Given the description of an element on the screen output the (x, y) to click on. 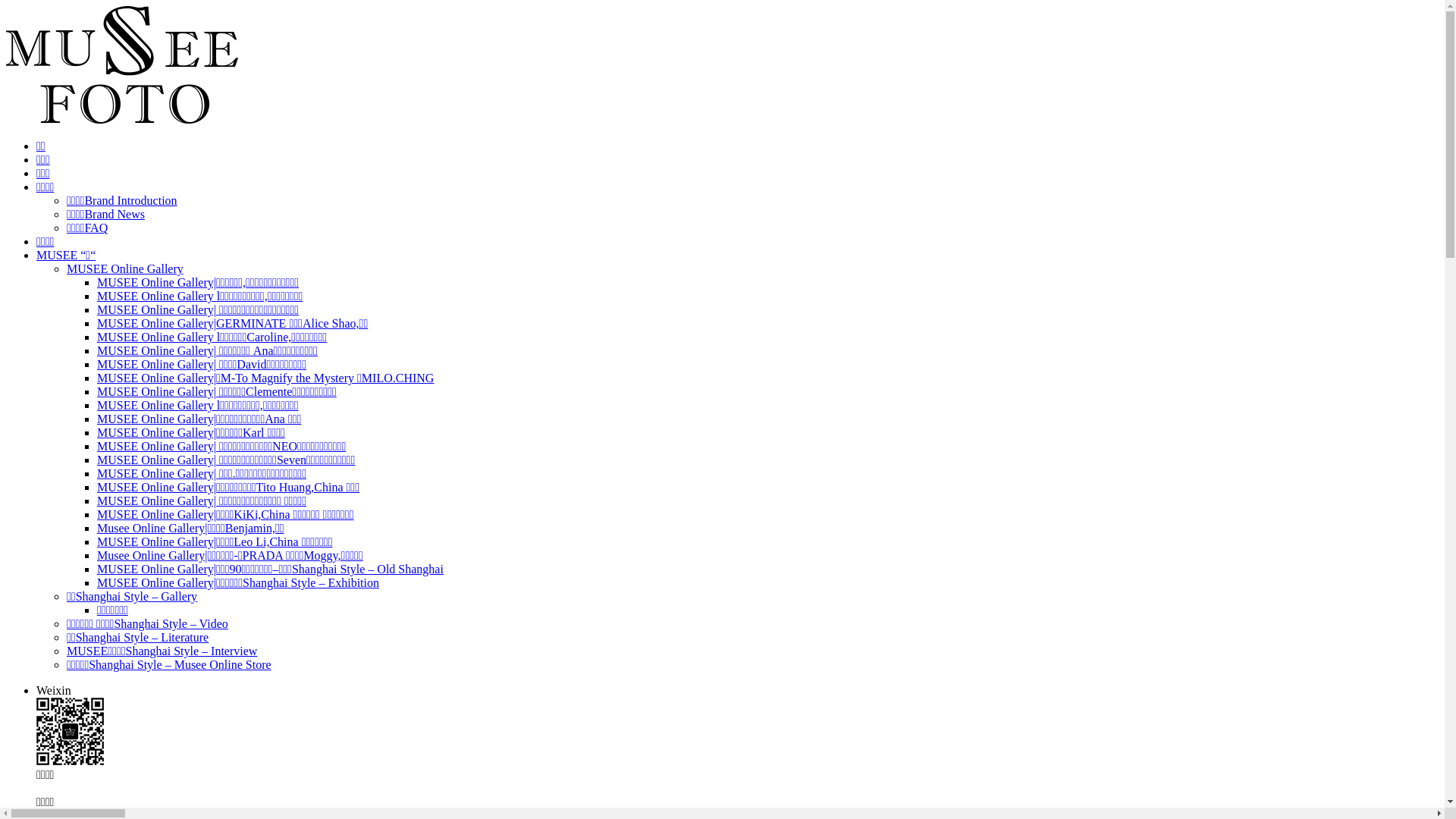
Weixin Element type: text (53, 690)
MUSEE Online Gallery Element type: text (124, 268)
